Given the description of an element on the screen output the (x, y) to click on. 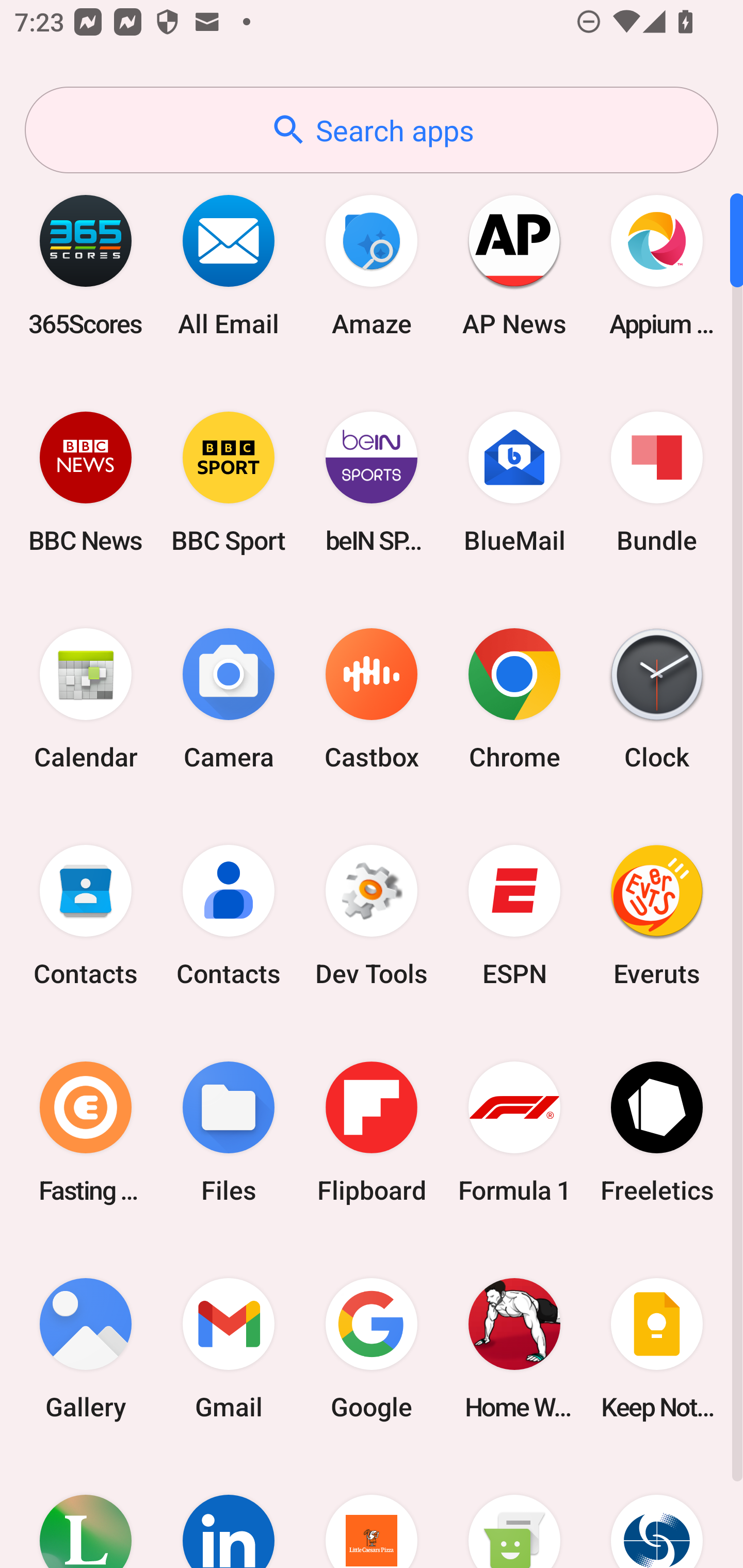
  Search apps (371, 130)
365Scores (85, 264)
All Email (228, 264)
Amaze (371, 264)
AP News (514, 264)
Appium Settings (656, 264)
BBC News (85, 482)
BBC Sport (228, 482)
beIN SPORTS (371, 482)
BlueMail (514, 482)
Bundle (656, 482)
Calendar (85, 699)
Camera (228, 699)
Castbox (371, 699)
Chrome (514, 699)
Clock (656, 699)
Contacts (85, 915)
Contacts (228, 915)
Dev Tools (371, 915)
ESPN (514, 915)
Everuts (656, 915)
Fasting Coach (85, 1131)
Files (228, 1131)
Flipboard (371, 1131)
Formula 1 (514, 1131)
Freeletics (656, 1131)
Gallery (85, 1348)
Gmail (228, 1348)
Google (371, 1348)
Home Workout (514, 1348)
Keep Notes (656, 1348)
